Given the description of an element on the screen output the (x, y) to click on. 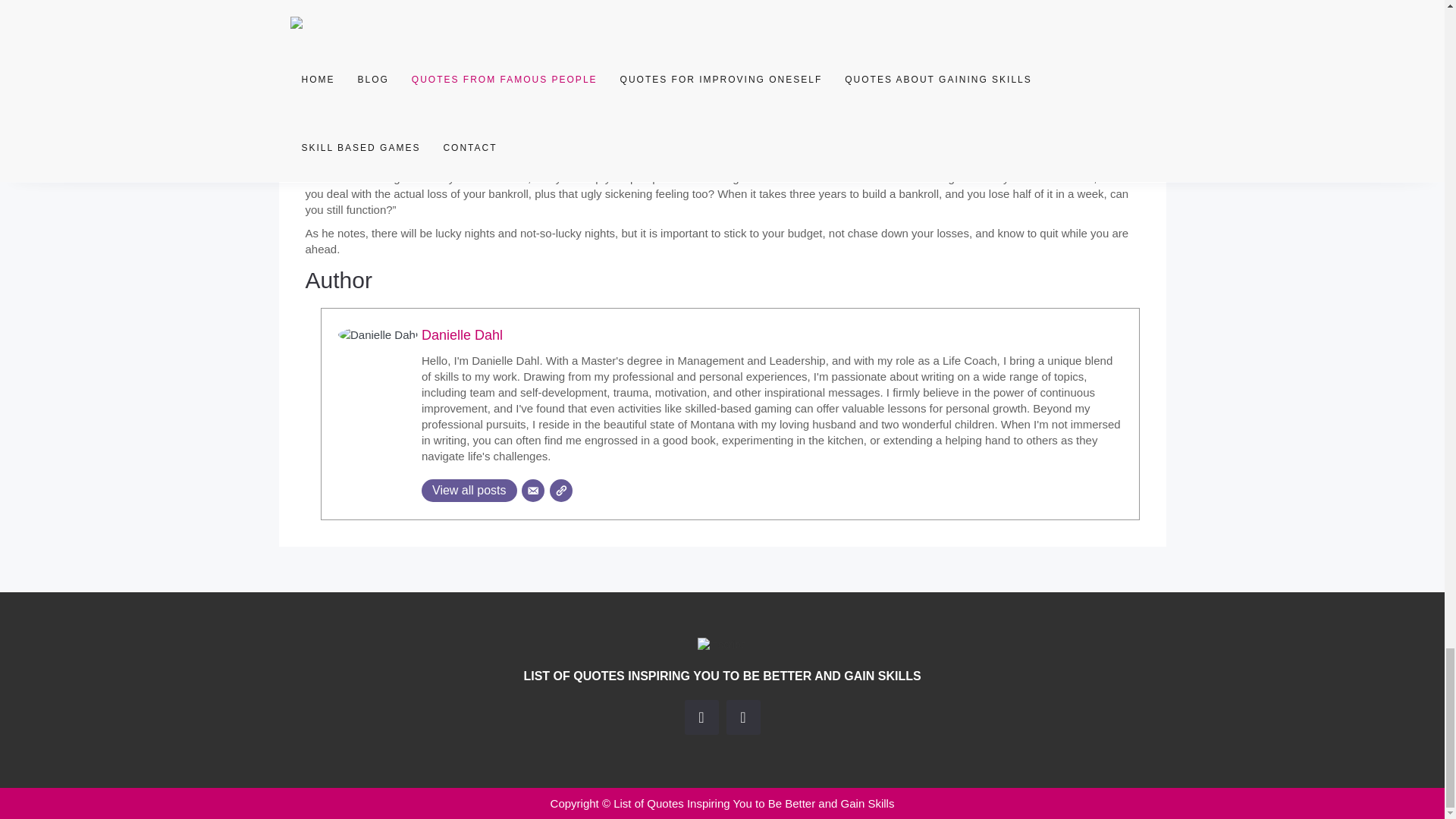
View all posts (469, 490)
Danielle Dahl (462, 335)
View all posts (469, 490)
Danielle Dahl (462, 335)
